Given the description of an element on the screen output the (x, y) to click on. 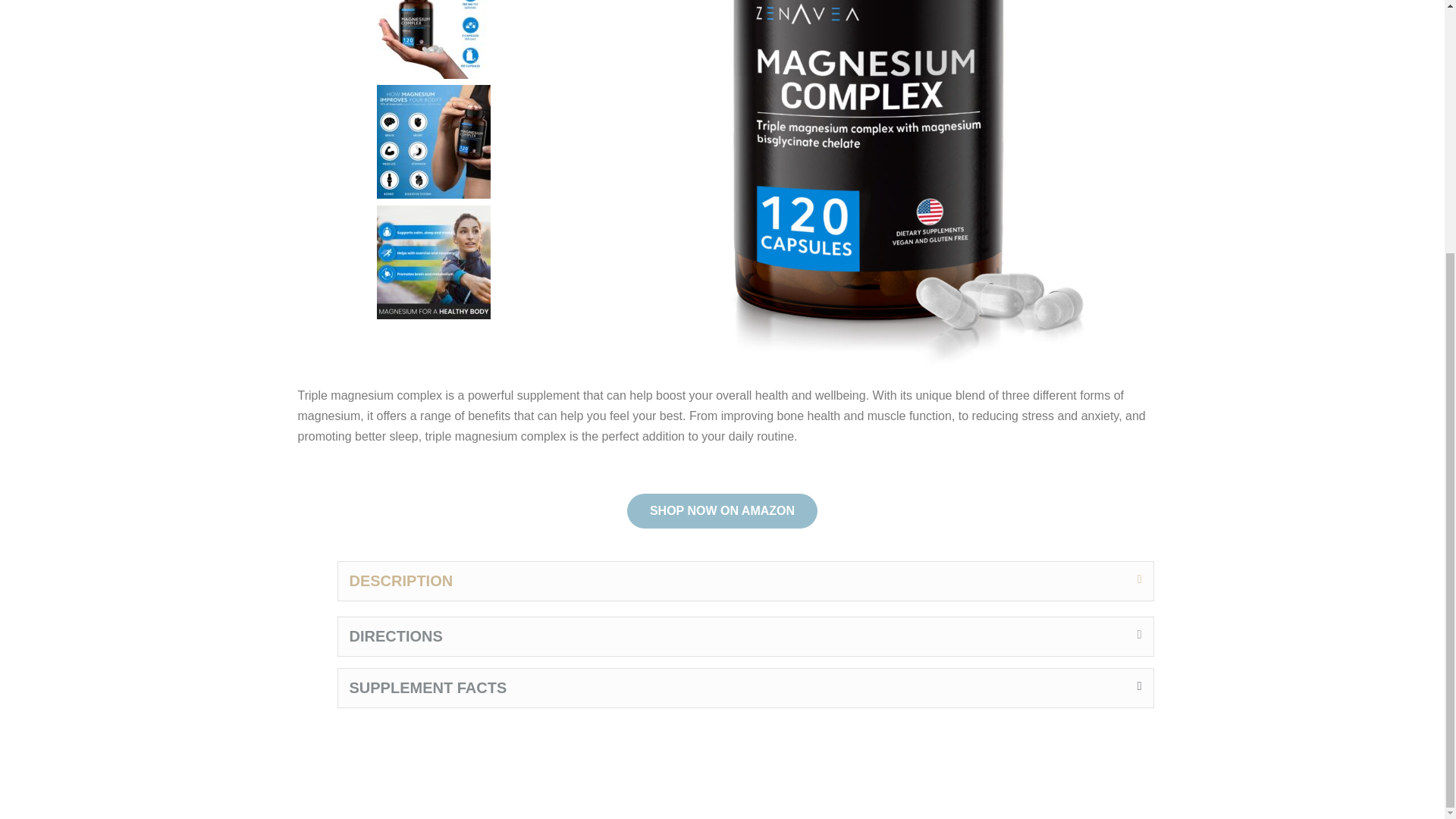
SHOP NOW ON AMAZON (721, 510)
DESCRIPTION (400, 580)
